Given the description of an element on the screen output the (x, y) to click on. 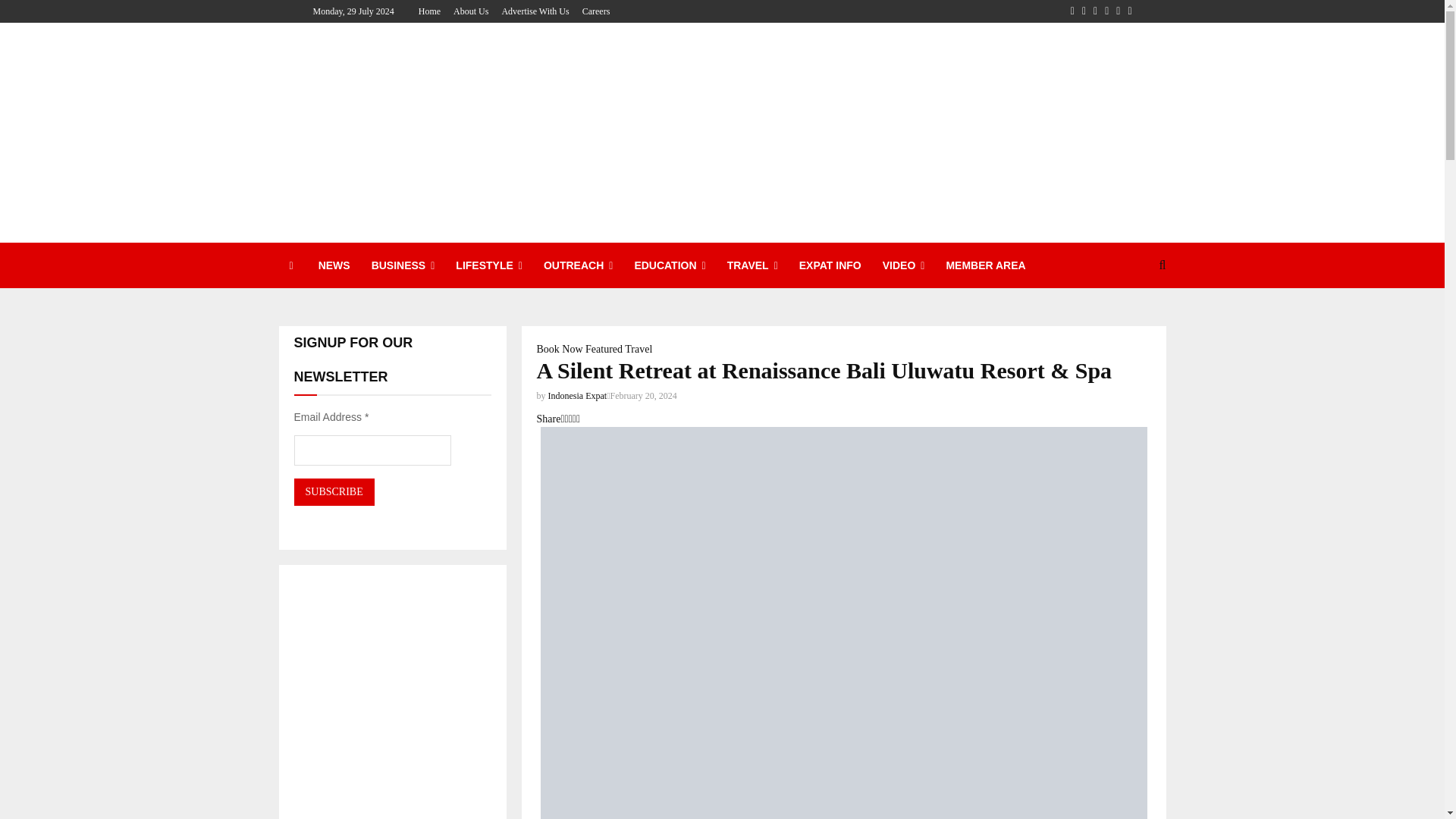
Instagram (1095, 11)
Twitter (1083, 11)
Linkedin (1106, 11)
Facebook (1072, 11)
Email (1128, 11)
Facebook (1072, 11)
Email (1128, 11)
VIDEO (904, 265)
LIFESTYLE (488, 265)
Home (430, 11)
Linkedin (1106, 11)
OUTREACH (577, 265)
NEWS (334, 265)
EDUCATION (669, 265)
Youtube (1117, 11)
